Given the description of an element on the screen output the (x, y) to click on. 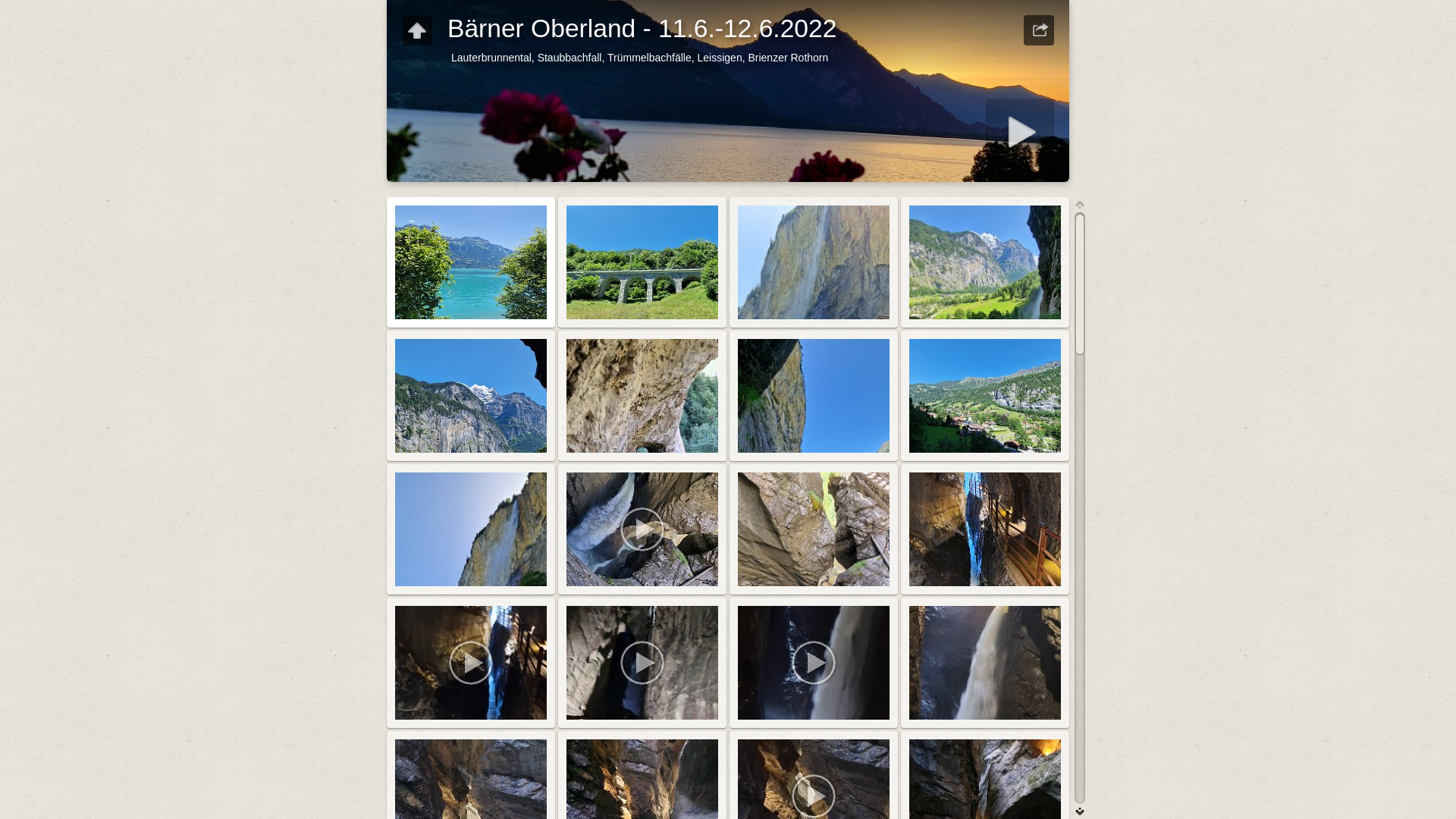
  Element type: text (1038, 30)
  Element type: text (416, 30)
